Given the description of an element on the screen output the (x, y) to click on. 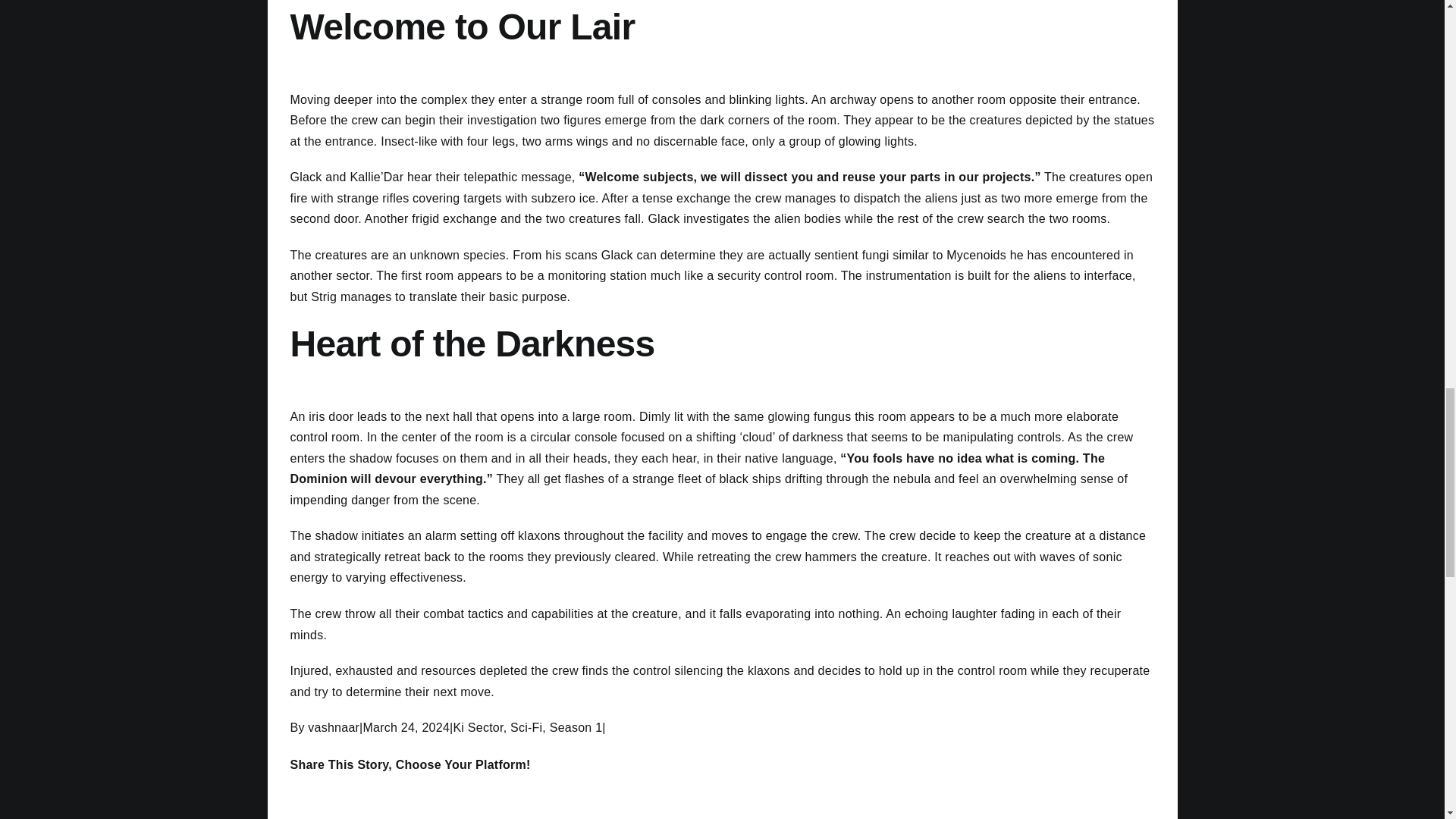
Posts by vashnaar (333, 727)
Season 1 (576, 727)
Sci-Fi (526, 727)
Ki Sector (477, 727)
vashnaar (333, 727)
